Given the description of an element on the screen output the (x, y) to click on. 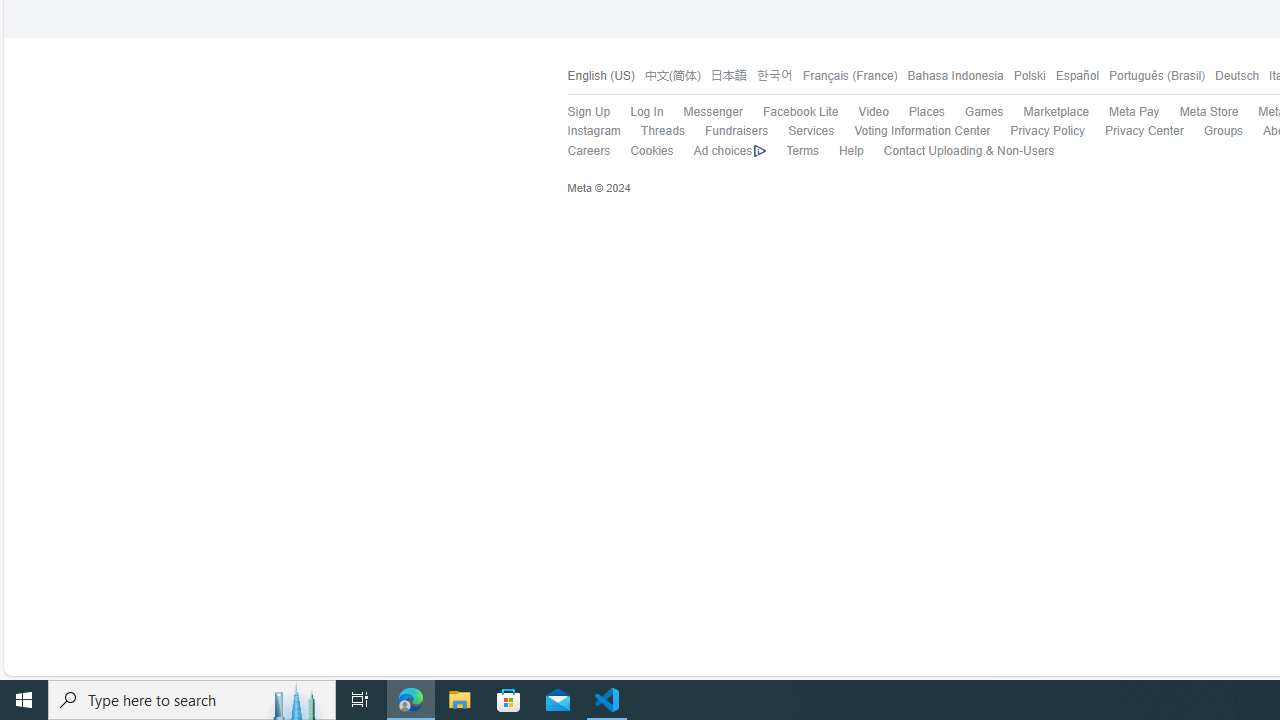
Fundraisers (736, 130)
Privacy Center (1134, 131)
Games (973, 112)
Privacy Center (1144, 130)
Privacy Policy (1047, 130)
Video (873, 112)
Help (840, 151)
Voting Information Center (921, 130)
Games (983, 112)
English (US) (600, 75)
Video (863, 112)
Sign Up (588, 112)
Careers (578, 151)
Bahasa Indonesia (955, 76)
